Given the description of an element on the screen output the (x, y) to click on. 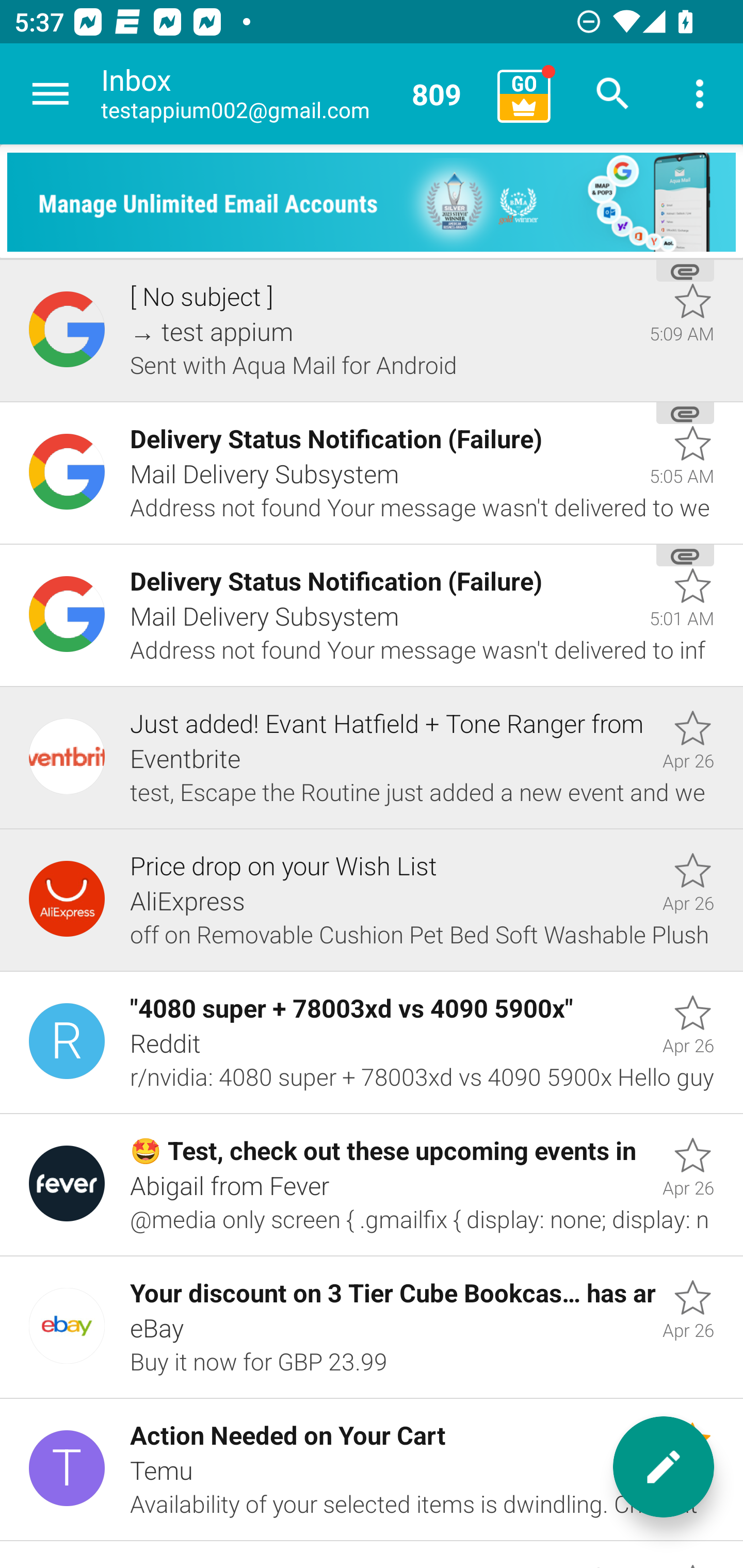
Navigate up (50, 93)
Inbox testappium002@gmail.com 809 (291, 93)
Search (612, 93)
More options (699, 93)
New message (663, 1466)
